Given the description of an element on the screen output the (x, y) to click on. 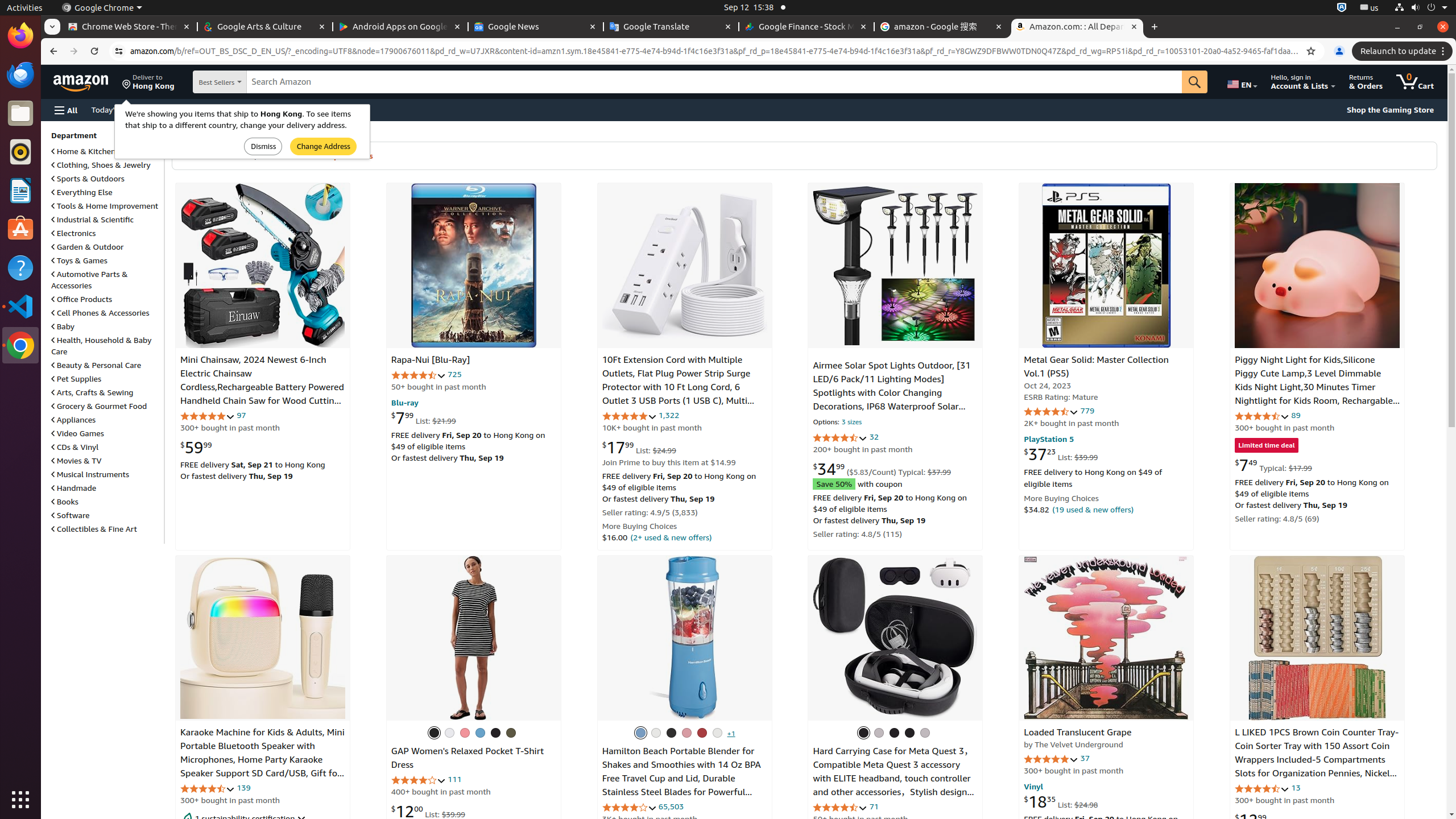
Shop the Gaming Store Element type: link (1389, 109)
Thunderbird Mail Element type: push-button (20, 74)
Amazon.com: : All Departments Element type: page-tab (1077, 26)
10Ft Extension Cord with Multiple Outlets, Flat Plug Power Strip Surge Protector with 10 Ft Long Cord, 6 Outlet 3 USB Ports (1 USB C), Multi Outlet Wall Plug for Travel, College, Dorm Room Essentials Element type: link (675, 394)
Everything Else Element type: link (81, 191)
